Given the description of an element on the screen output the (x, y) to click on. 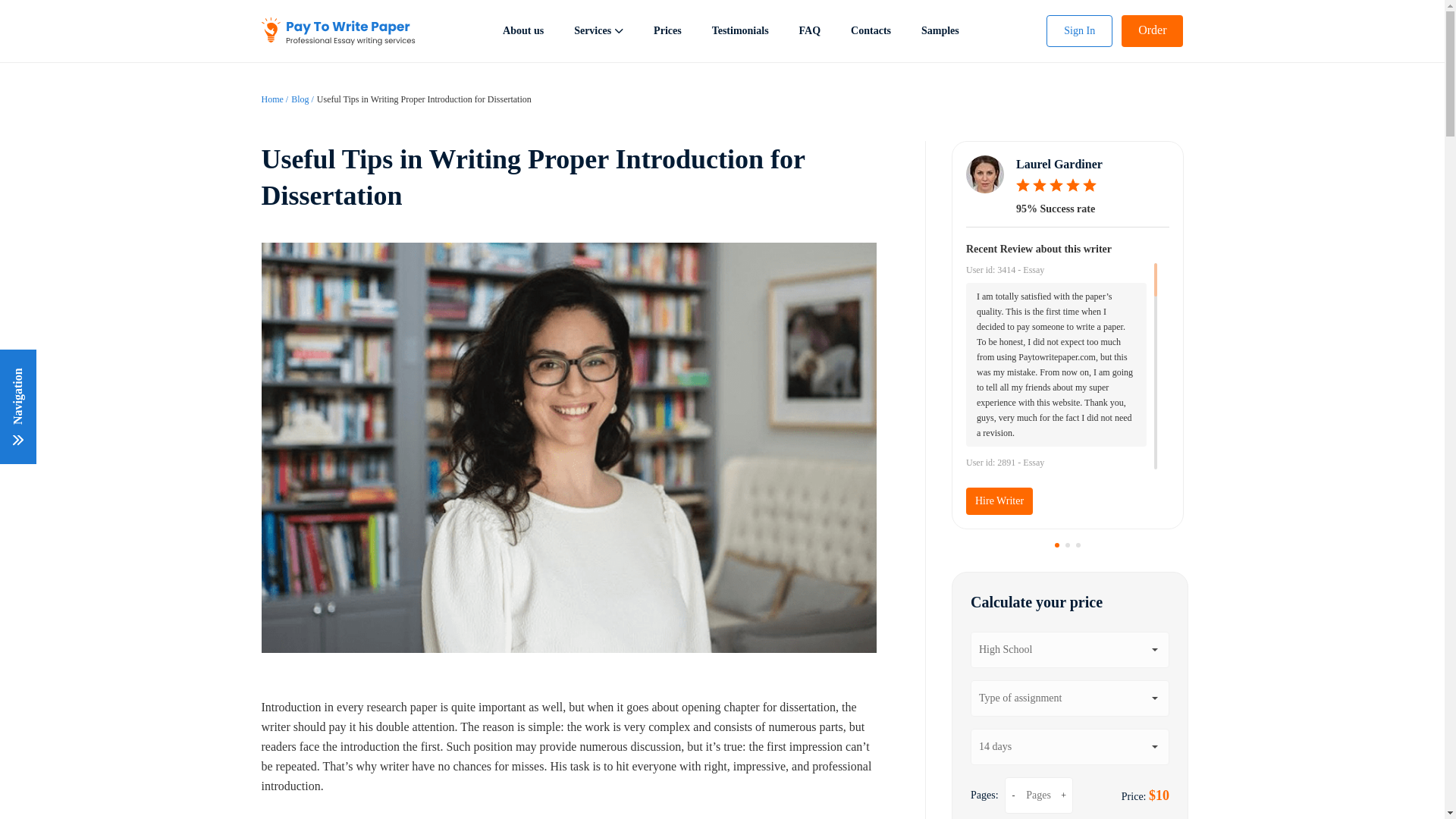
Testimonials (739, 31)
About us (522, 31)
Prices (667, 31)
Services (598, 31)
Contacts (870, 31)
Samples (940, 31)
